Given the description of an element on the screen output the (x, y) to click on. 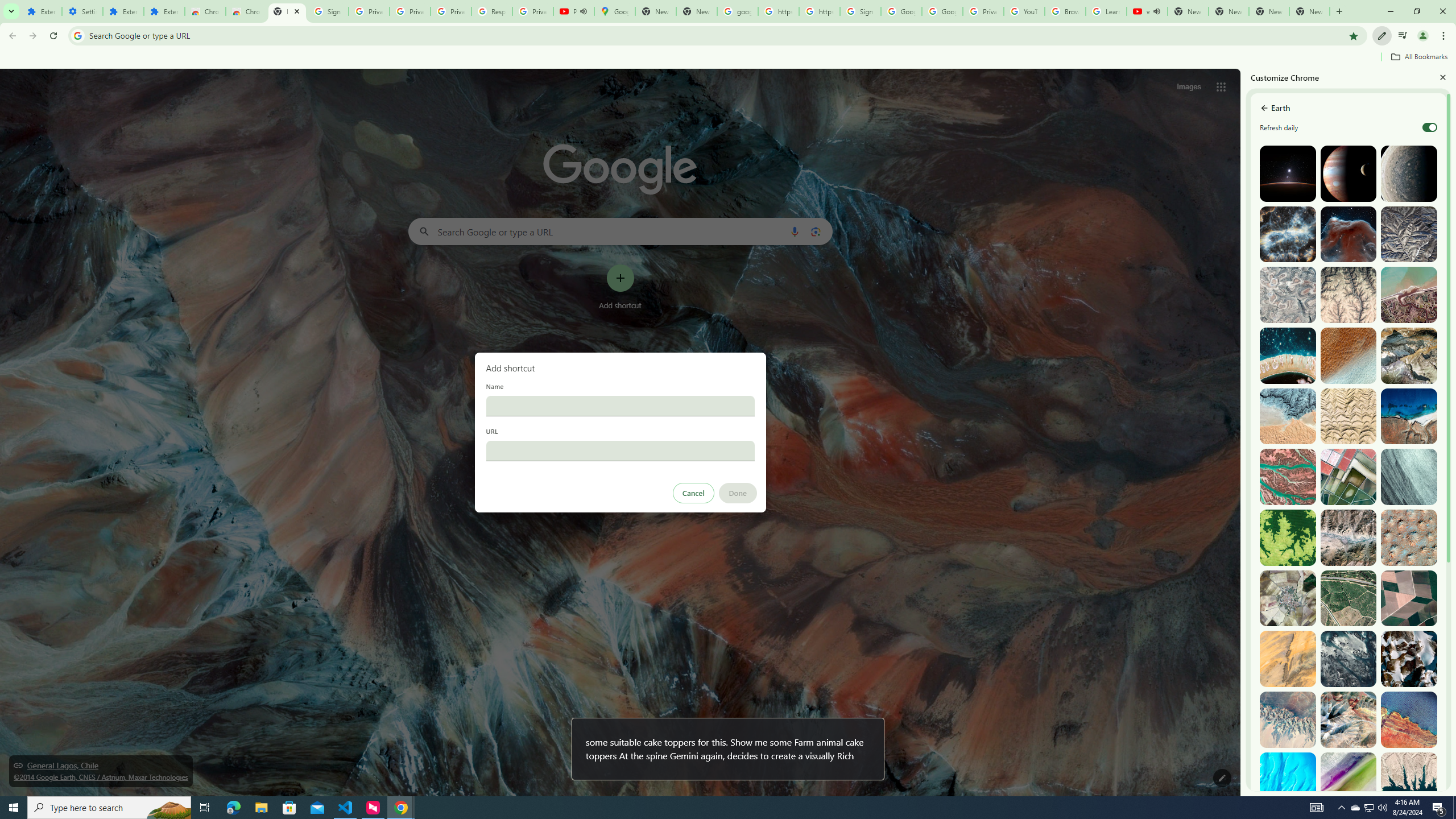
Rikaze, China (1348, 537)
Nanggroe Aceh Darussalam, Indonesia (1408, 294)
South Eleuthera, The Bahamas (1287, 780)
Kerman, Iran (1348, 416)
Davis County, United States (1348, 780)
Chrome Web Store (205, 11)
Google Maps (614, 11)
